Given the description of an element on the screen output the (x, y) to click on. 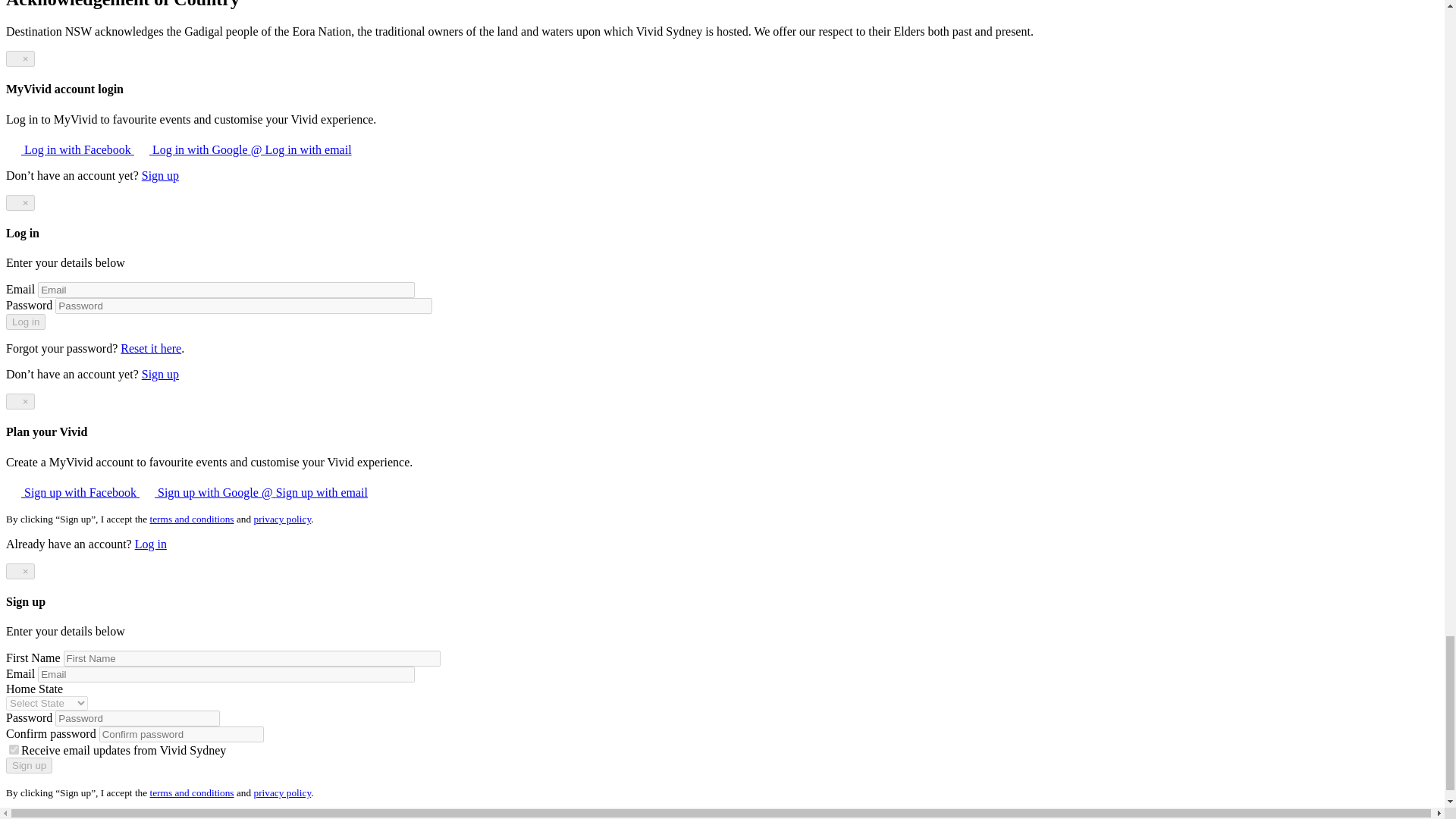
1 (13, 749)
